Given the description of an element on the screen output the (x, y) to click on. 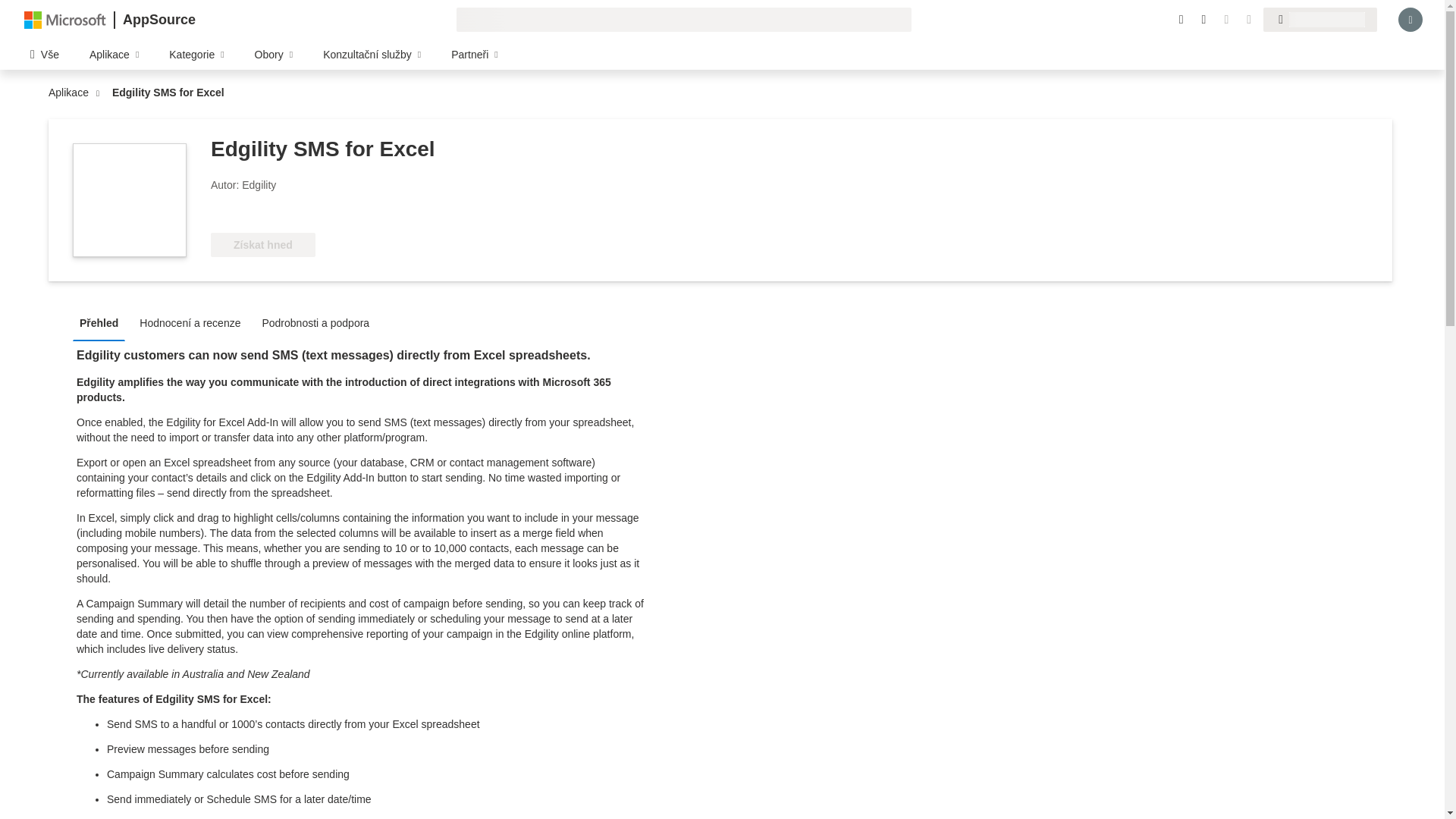
Podrobnosti a podpora (319, 322)
Aplikace (72, 92)
Microsoft (65, 18)
AppSource (158, 19)
